Given the description of an element on the screen output the (x, y) to click on. 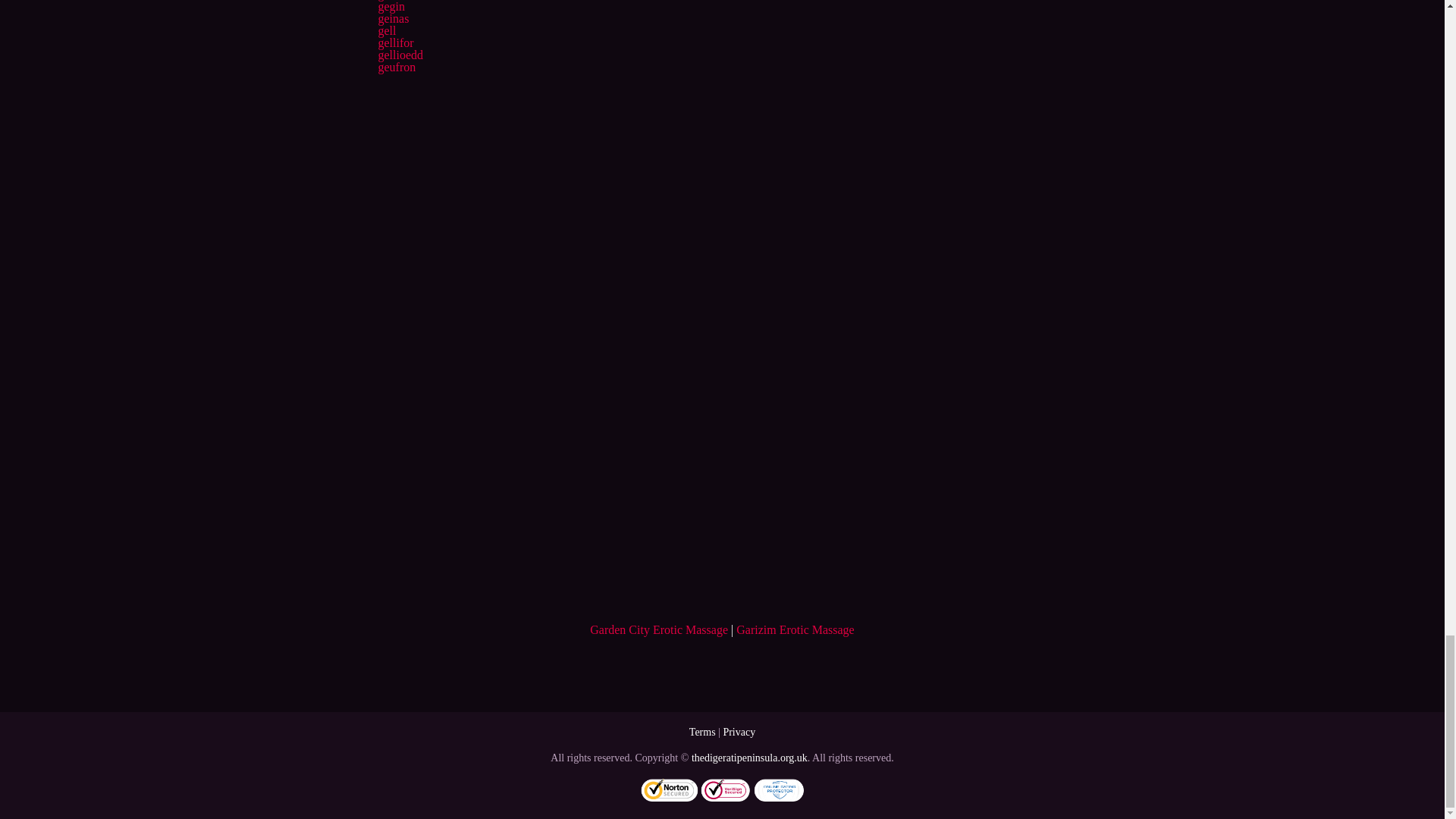
Garizim Erotic Massage (795, 629)
gatewen (397, 0)
thedigeratipeninsula.org.uk (749, 757)
Garden City Erotic Massage (658, 629)
Privacy (738, 731)
geinas (393, 18)
Privacy (738, 731)
gegin (390, 6)
gell (386, 30)
Terms (702, 731)
gellioedd (400, 54)
gellifor (395, 42)
geufron (395, 66)
Terms (702, 731)
